Given the description of an element on the screen output the (x, y) to click on. 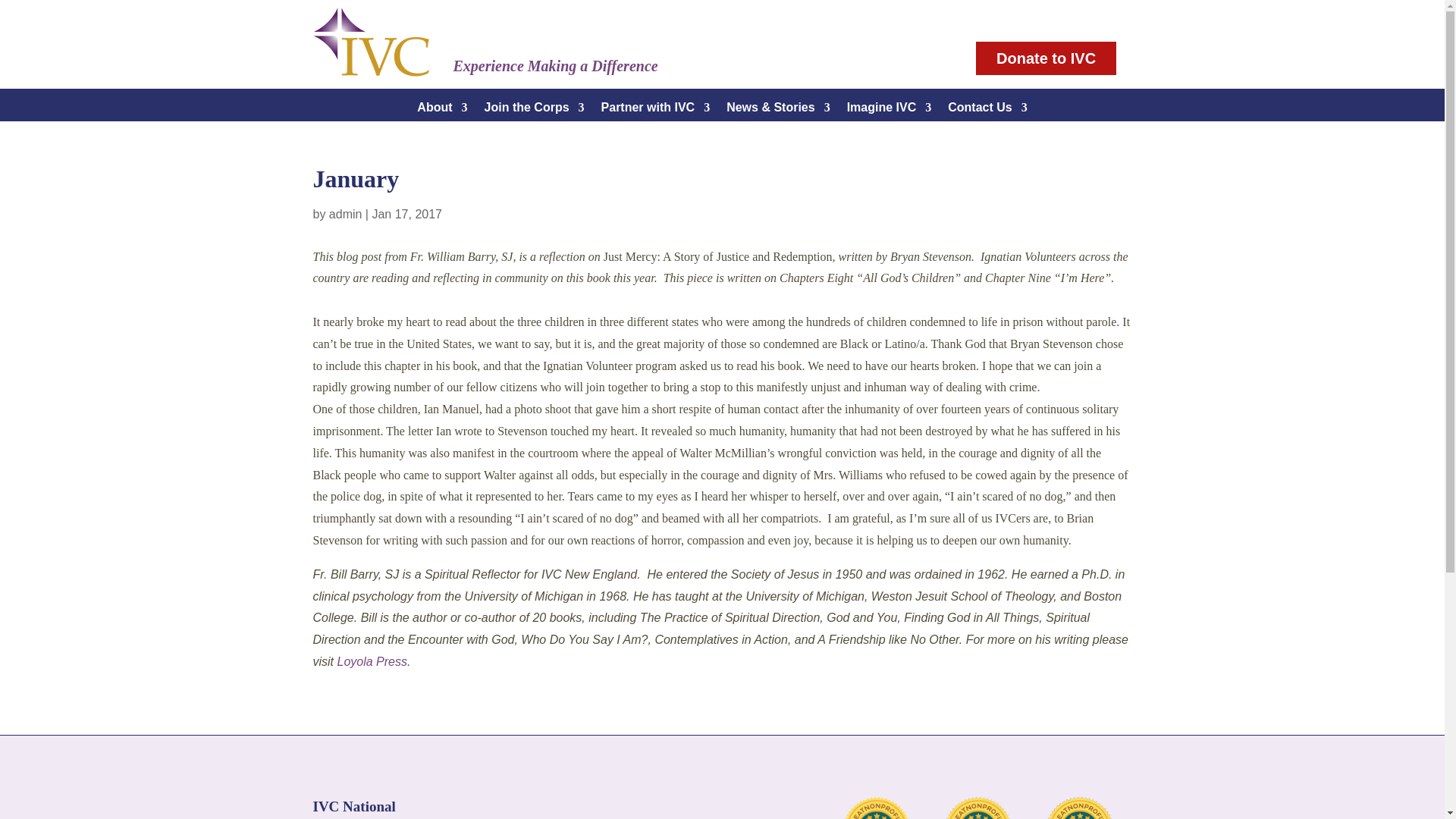
2020-top-rated-awards-badge-hi-res (978, 807)
Join the Corps (534, 110)
About (441, 110)
Partner with IVC (655, 110)
2021-top-rated-awards-badge-embed (876, 807)
Posts by admin (345, 214)
2019-top-rated-awards-badge-hi-res (1078, 807)
Contact Us (986, 110)
Imagine IVC (889, 110)
ivc-logo (371, 41)
Donate to IVC (1045, 58)
